Given the description of an element on the screen output the (x, y) to click on. 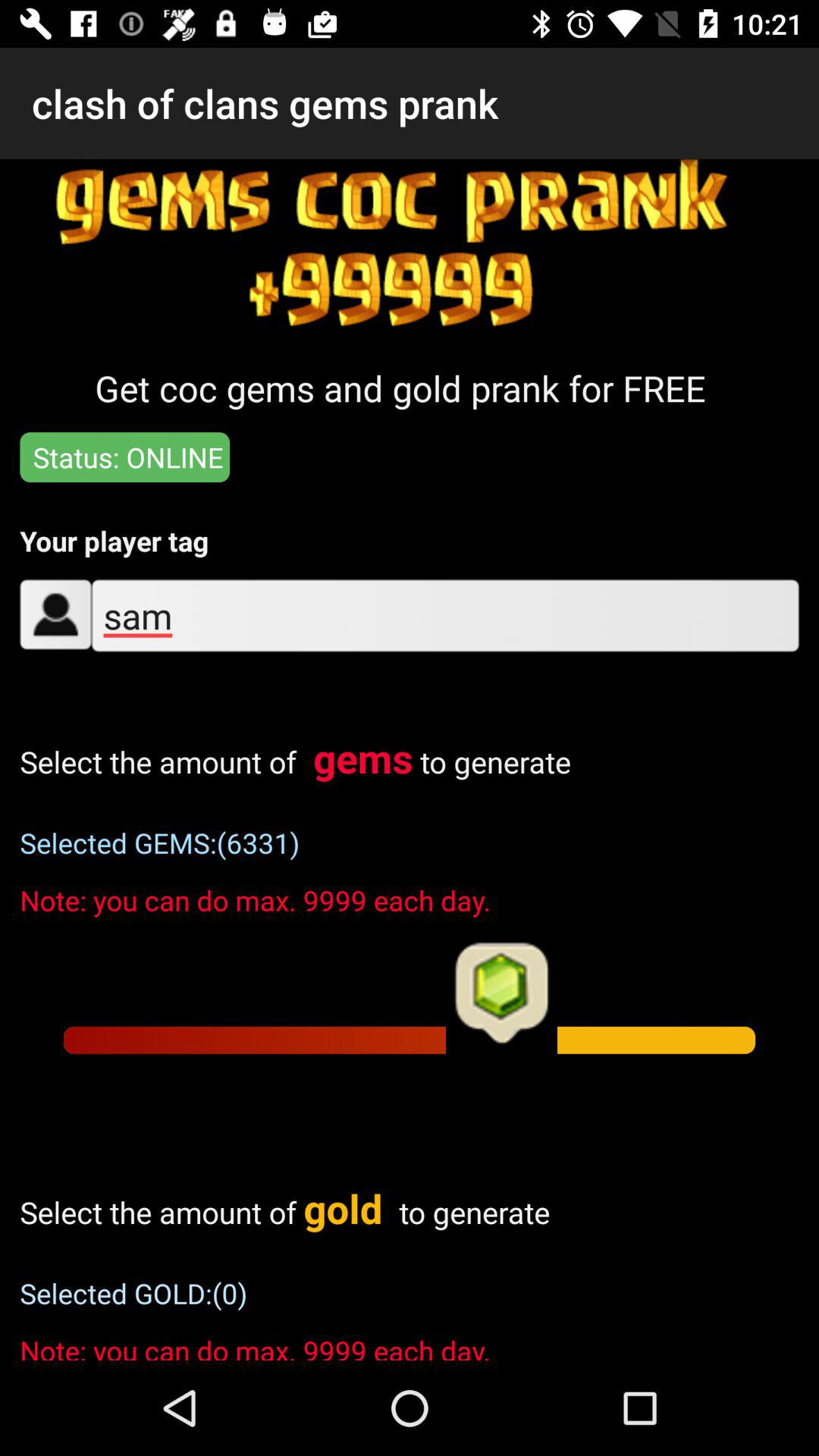
select sam (445, 615)
